Given the description of an element on the screen output the (x, y) to click on. 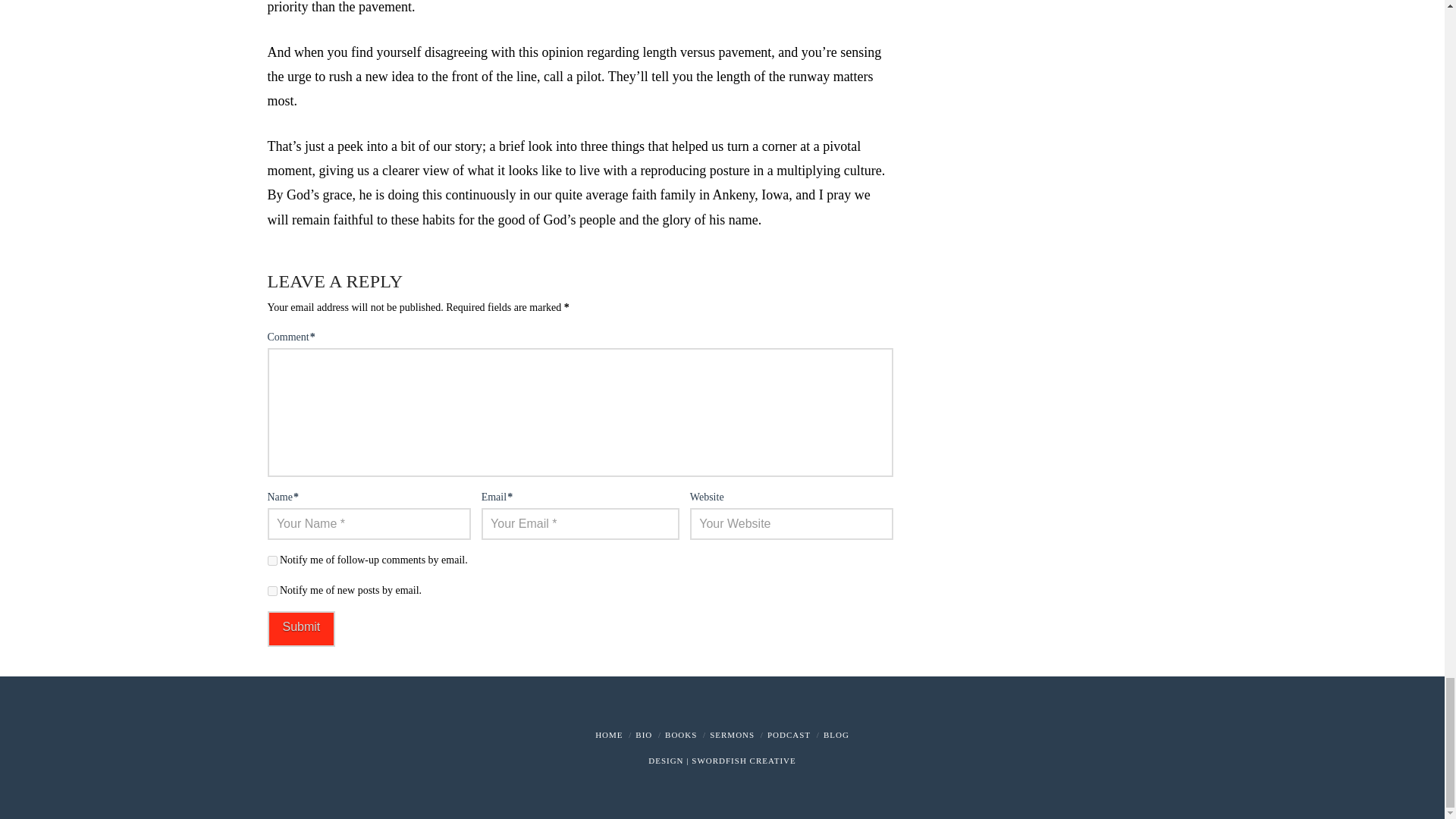
PODCAST (788, 734)
subscribe (271, 591)
BLOG (836, 734)
HOME (609, 734)
BOOKS (681, 734)
subscribe (271, 560)
SERMONS (732, 734)
Submit (300, 628)
BIO (643, 734)
SWORDFISH CREATIVE (742, 759)
Submit (300, 628)
